Given the description of an element on the screen output the (x, y) to click on. 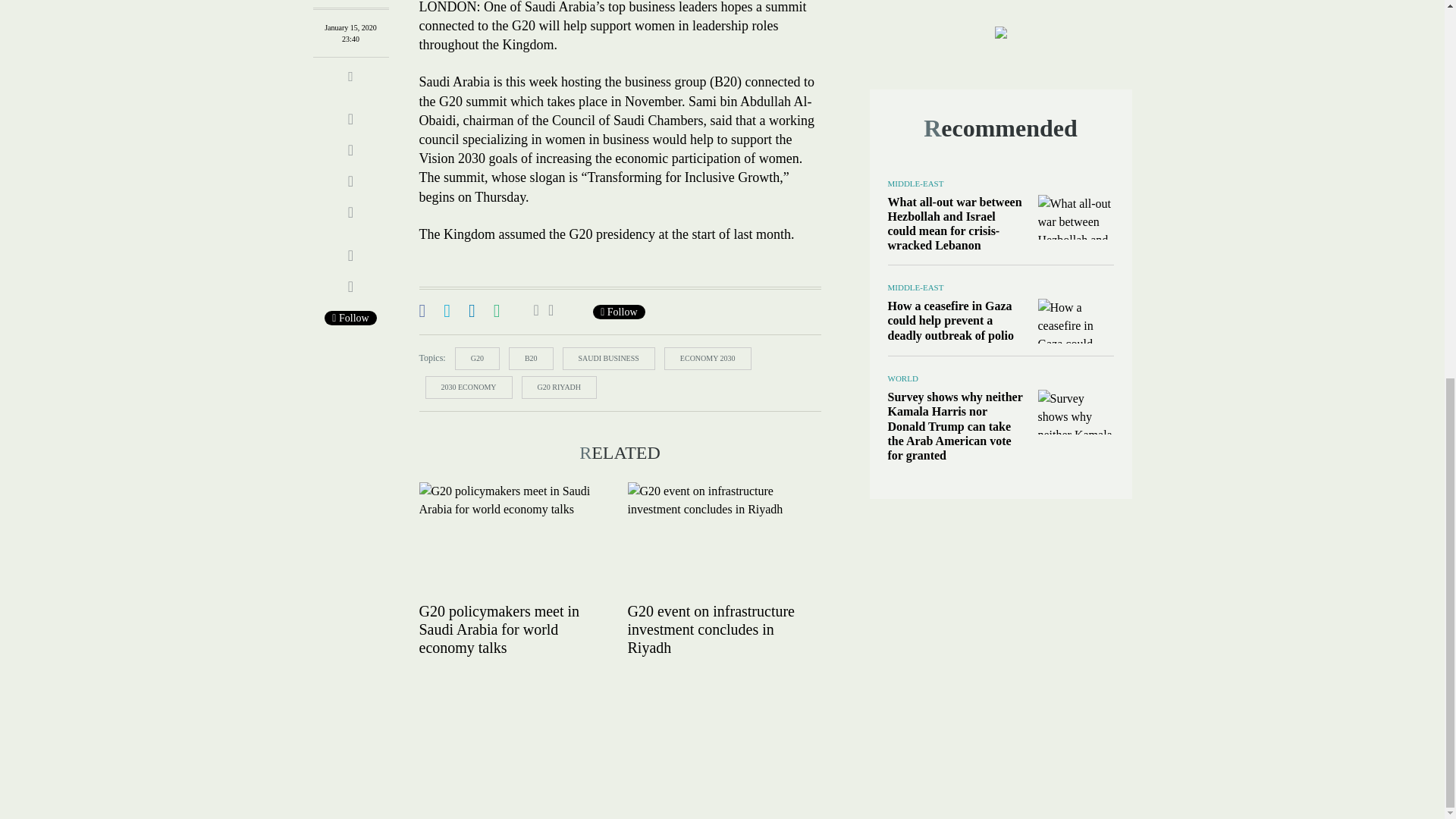
G20 event on infrastructure investment concludes in Riyadh (724, 539)
